Given the description of an element on the screen output the (x, y) to click on. 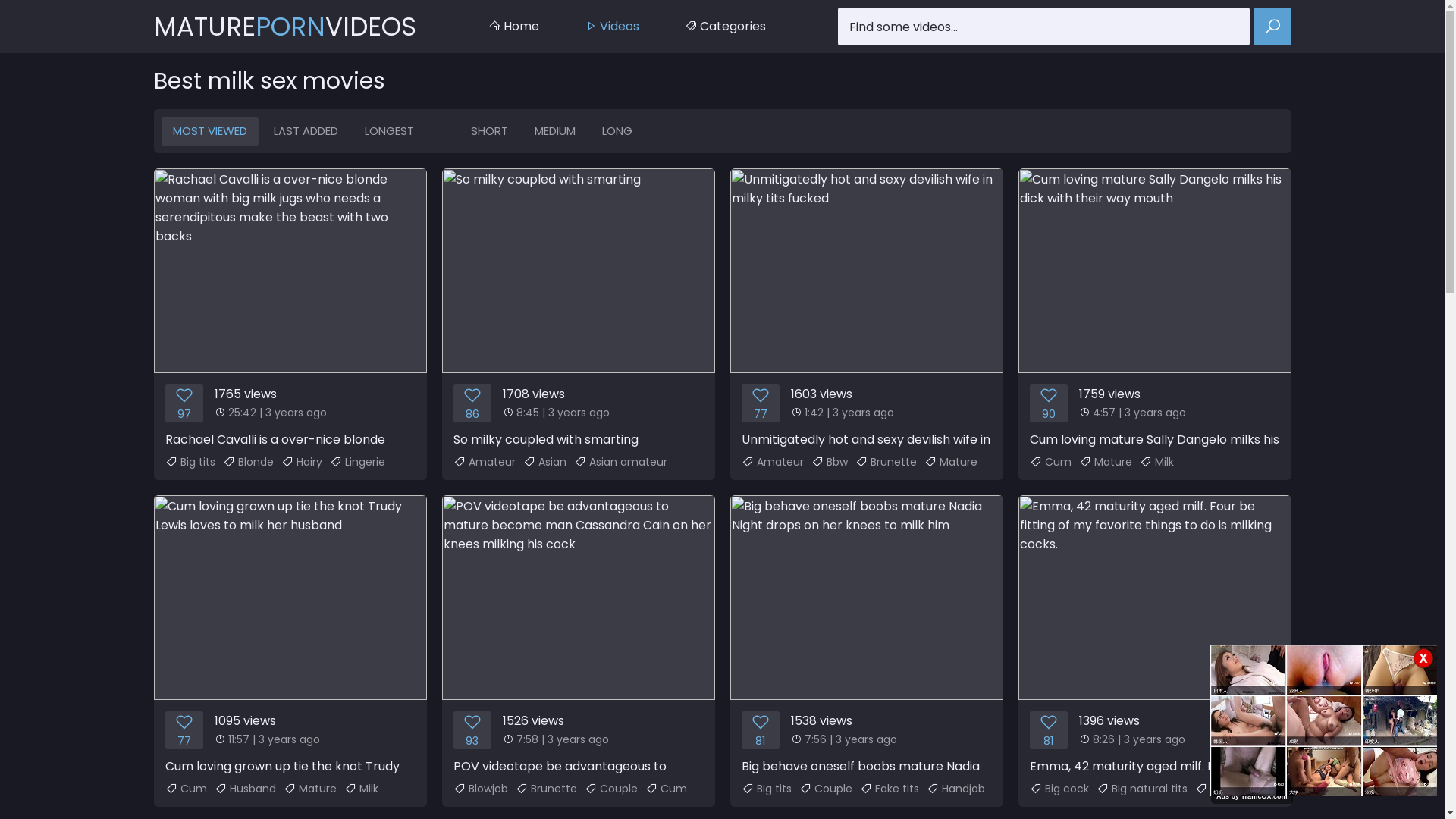
Big tits Element type: text (1220, 788)
Big tits Element type: text (766, 788)
Husband Element type: text (244, 788)
Cum Element type: text (1050, 461)
Handjob Element type: text (955, 788)
Categories Element type: text (725, 26)
Amateur Element type: text (772, 461)
Milk Element type: text (1156, 461)
Bbw Element type: text (829, 461)
MOST VIEWED Element type: text (208, 130)
LAST ADDED Element type: text (305, 130)
Search X Videos Element type: hover (1063, 26)
Couple Element type: text (610, 788)
Milk Element type: text (361, 788)
Big natural tits Element type: text (1141, 788)
Big cock Element type: text (1058, 788)
Cum Element type: text (665, 788)
Asian amateur Element type: text (619, 461)
Couple Element type: text (825, 788)
Asian Element type: text (544, 461)
Mature Element type: text (1104, 461)
Blowjob Element type: text (480, 788)
LONG Element type: text (616, 130)
SHORT Element type: text (489, 130)
Brunette Element type: text (885, 461)
LONGEST Element type: text (389, 130)
Find Element type: hover (1271, 26)
Lingerie Element type: text (356, 461)
Ads by TrafficOX.com Element type: text (1251, 795)
Mature Element type: text (949, 461)
MATUREPORNVIDEOS Element type: text (284, 26)
Amateur Element type: text (484, 461)
Hairy Element type: text (300, 461)
Big tits Element type: text (190, 461)
Blonde Element type: text (247, 461)
Brunette Element type: text (546, 788)
Cum Element type: text (186, 788)
Home Element type: text (512, 26)
Videos Element type: text (611, 26)
MEDIUM Element type: text (554, 130)
So milky coupled with smarting Element type: text (577, 307)
Mature Element type: text (309, 788)
Fake tits Element type: text (889, 788)
